Given the description of an element on the screen output the (x, y) to click on. 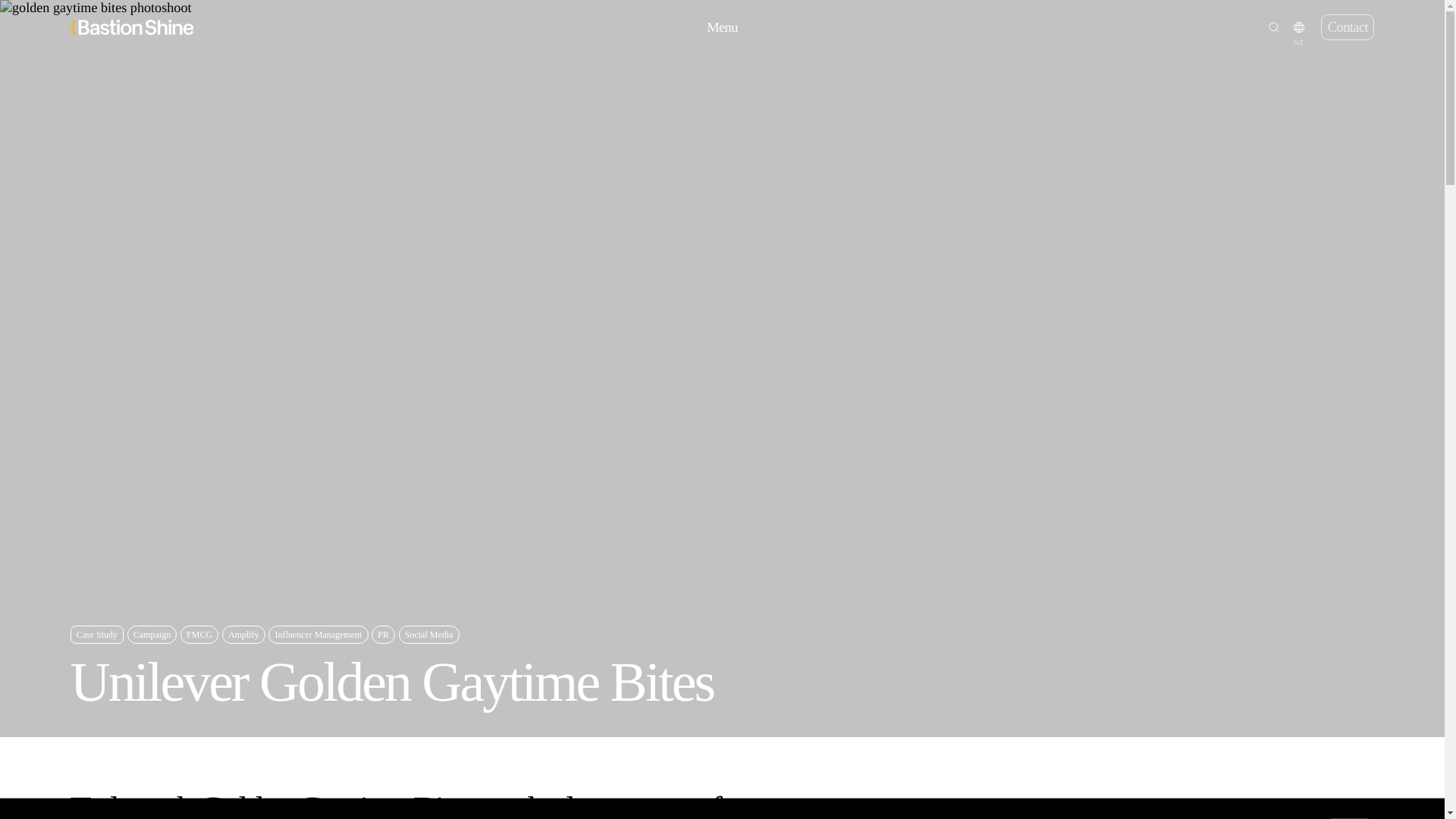
Contact (1347, 27)
Choose a region (1298, 27)
NZ (1298, 27)
